Given the description of an element on the screen output the (x, y) to click on. 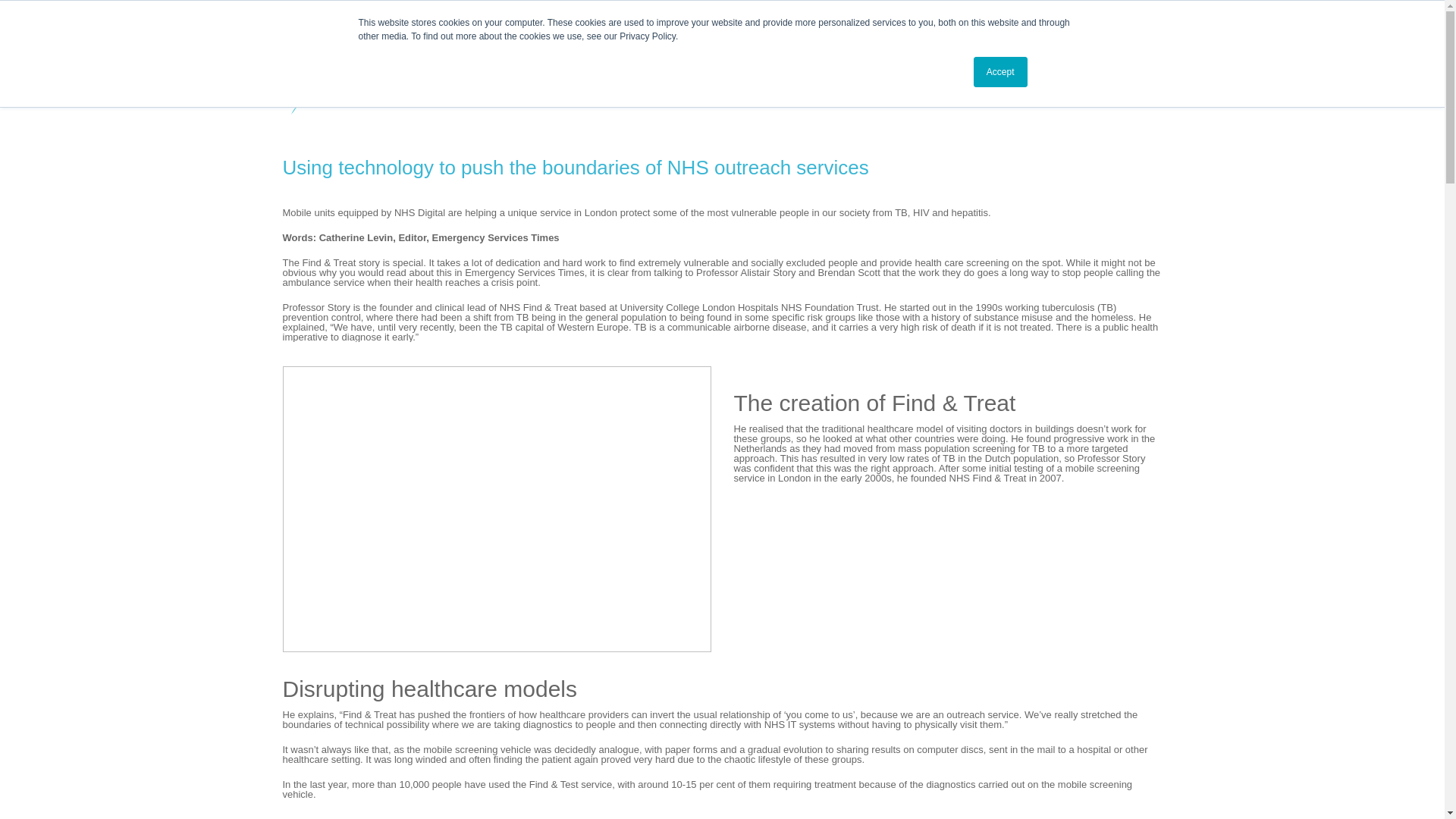
Excelerate (376, 75)
LARGE team (496, 508)
Accept (1000, 71)
